Given the description of an element on the screen output the (x, y) to click on. 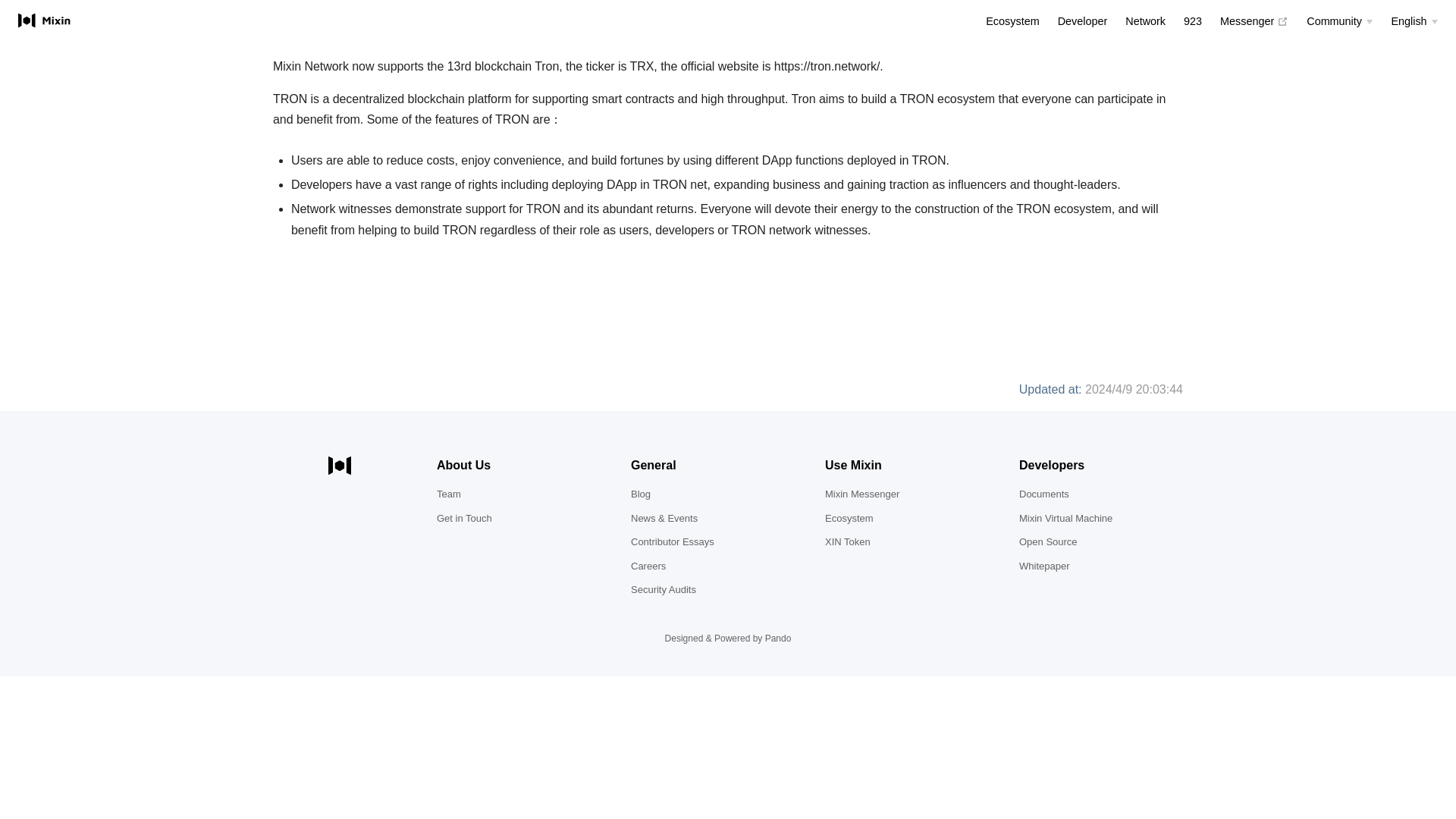
Get in Touch (464, 518)
Careers (647, 565)
Network (1145, 21)
Ecosystem (1012, 21)
Team (448, 493)
English (1414, 21)
Security Audits (1254, 21)
Pando Official Website (662, 589)
Blog (778, 638)
